Given the description of an element on the screen output the (x, y) to click on. 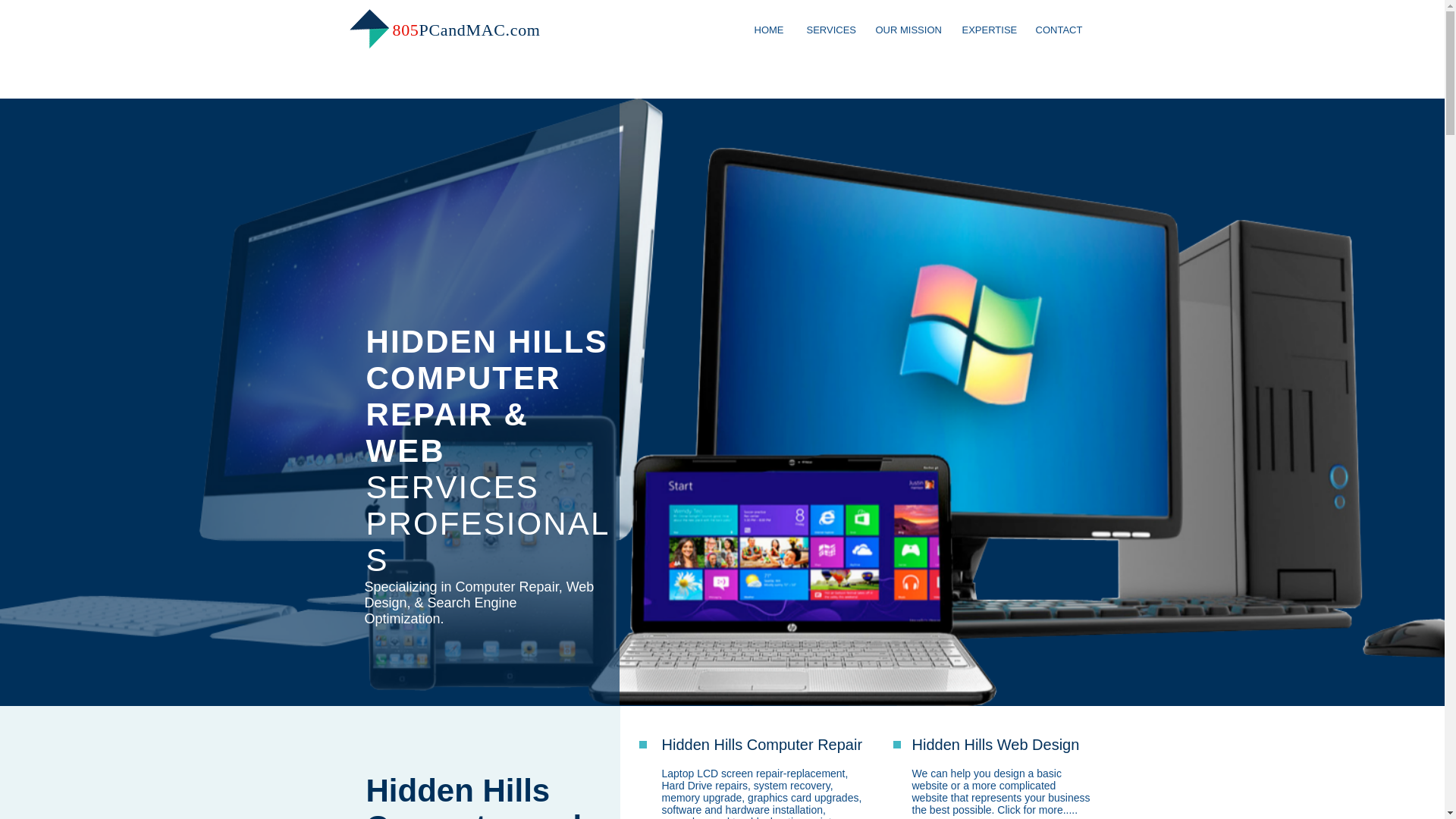
SERVICES (828, 29)
EXPERTISE (987, 29)
HOME (768, 29)
805PCandMAC.com (466, 29)
CONTACT (1058, 29)
OUR MISSION (907, 29)
